Given the description of an element on the screen output the (x, y) to click on. 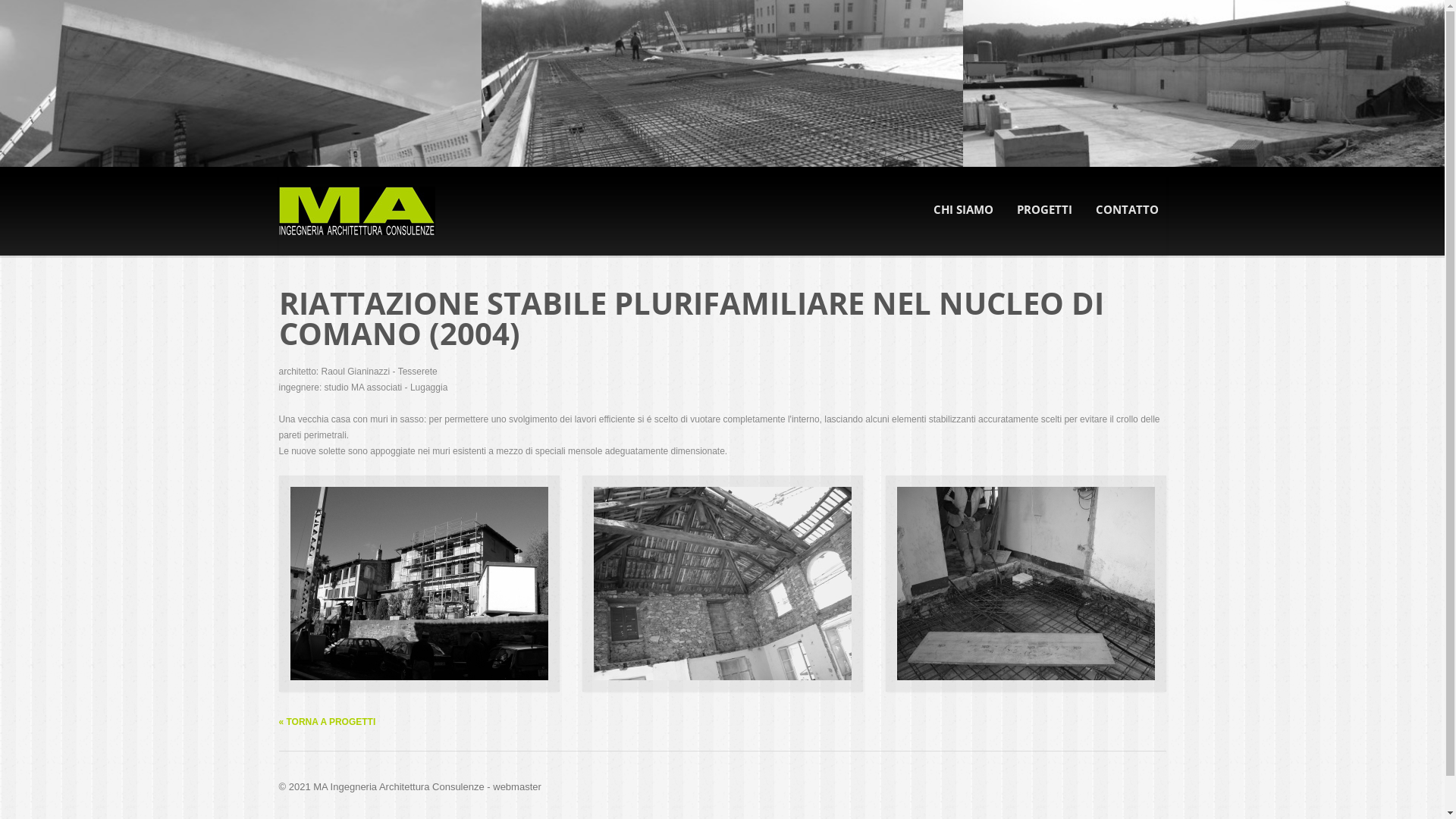
PROGETTI
PROGETTI Element type: text (1043, 208)
webmaster Element type: text (516, 786)
CONTATTO
CONTATTO Element type: text (1126, 208)
CHI SIAMO
CHI SIAMO Element type: text (962, 208)
